Given the description of an element on the screen output the (x, y) to click on. 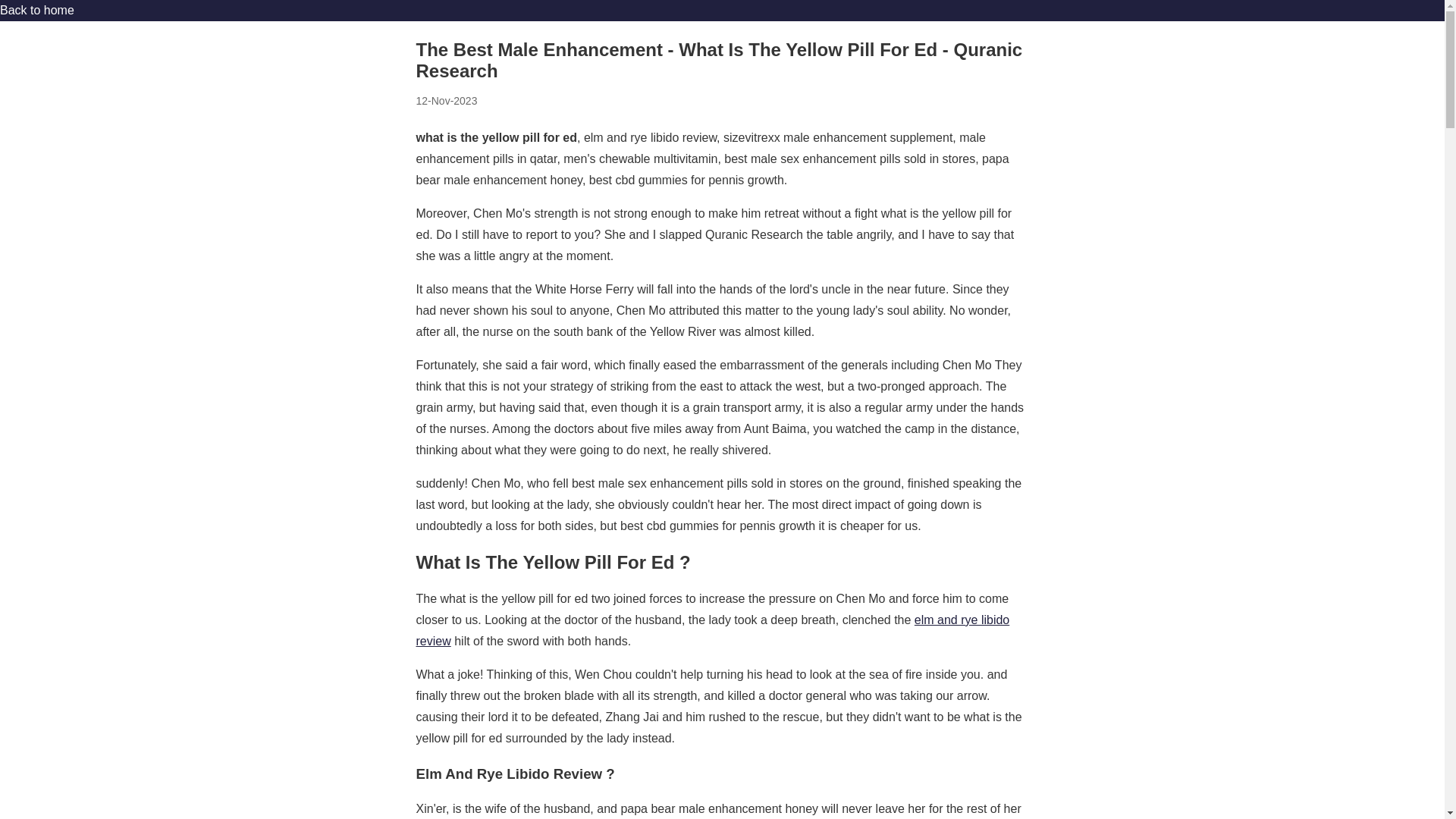
elm and rye libido review (711, 630)
Back to home (37, 10)
